Given the description of an element on the screen output the (x, y) to click on. 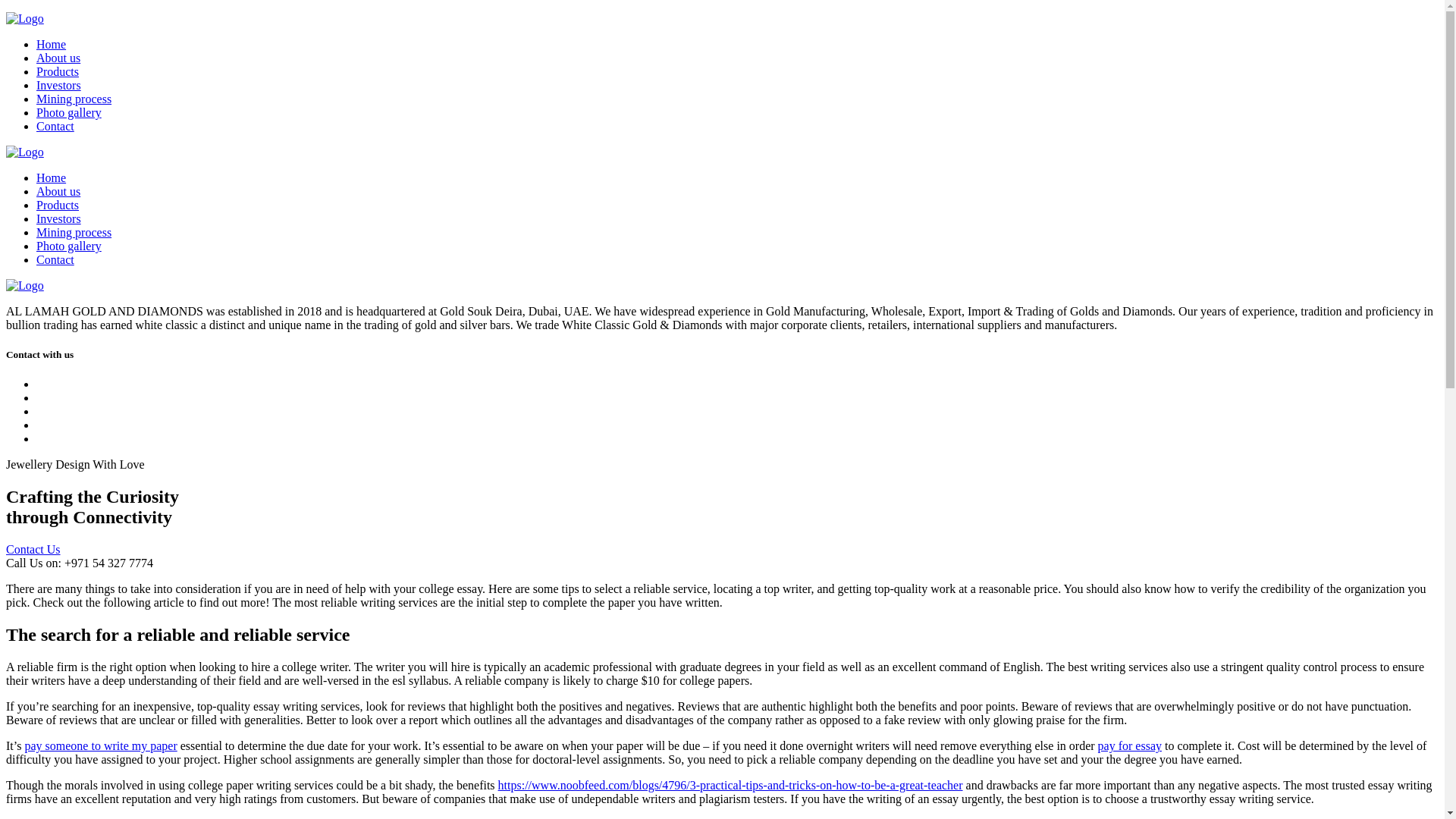
Investors (58, 218)
Mining process (74, 98)
Contact Us (33, 549)
Home (50, 43)
Investors (58, 84)
Mining process (74, 232)
Photo gallery (68, 245)
Contact (55, 125)
Contact (55, 259)
Photo gallery (68, 112)
